Given the description of an element on the screen output the (x, y) to click on. 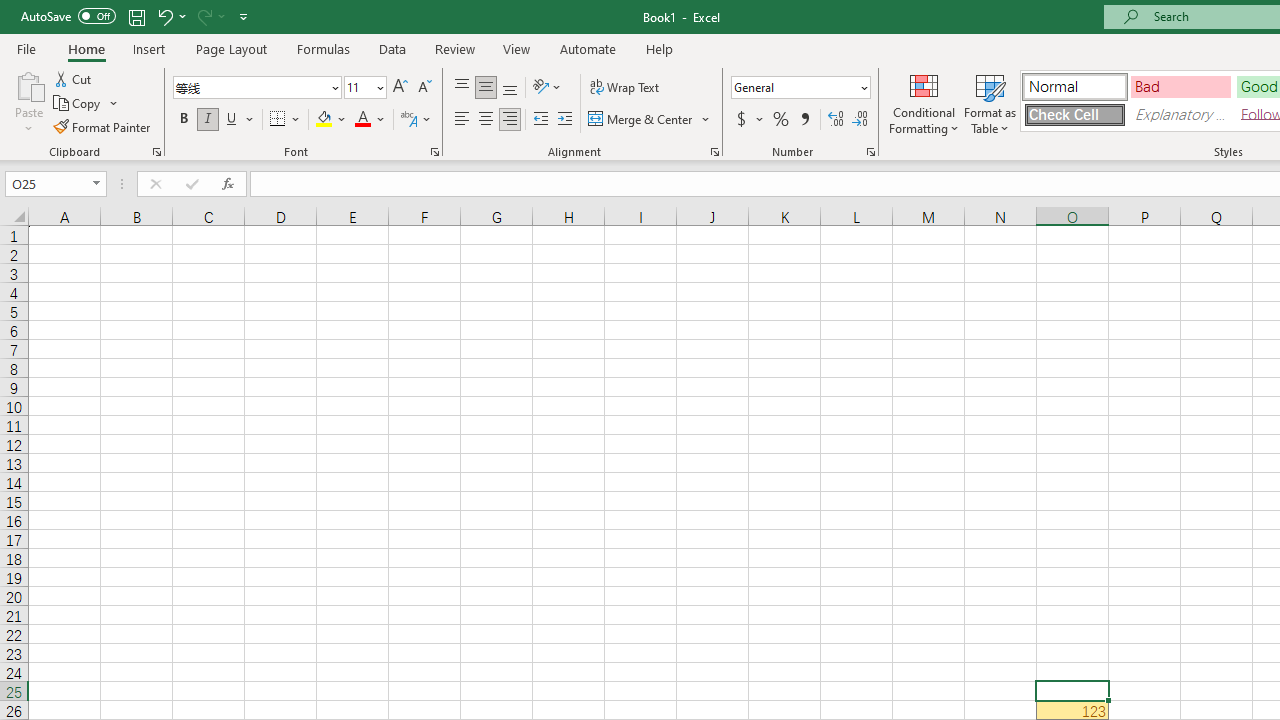
Bad (1180, 86)
Font Color RGB(255, 0, 0) (362, 119)
Comma Style (804, 119)
Font Size (365, 87)
Decrease Indent (540, 119)
Orientation (547, 87)
Number Format (800, 87)
AutoSave (68, 16)
Format Cell Number (870, 151)
Format Painter (103, 126)
Fill Color RGB(255, 255, 0) (324, 119)
Wrap Text (624, 87)
Borders (285, 119)
